Given the description of an element on the screen output the (x, y) to click on. 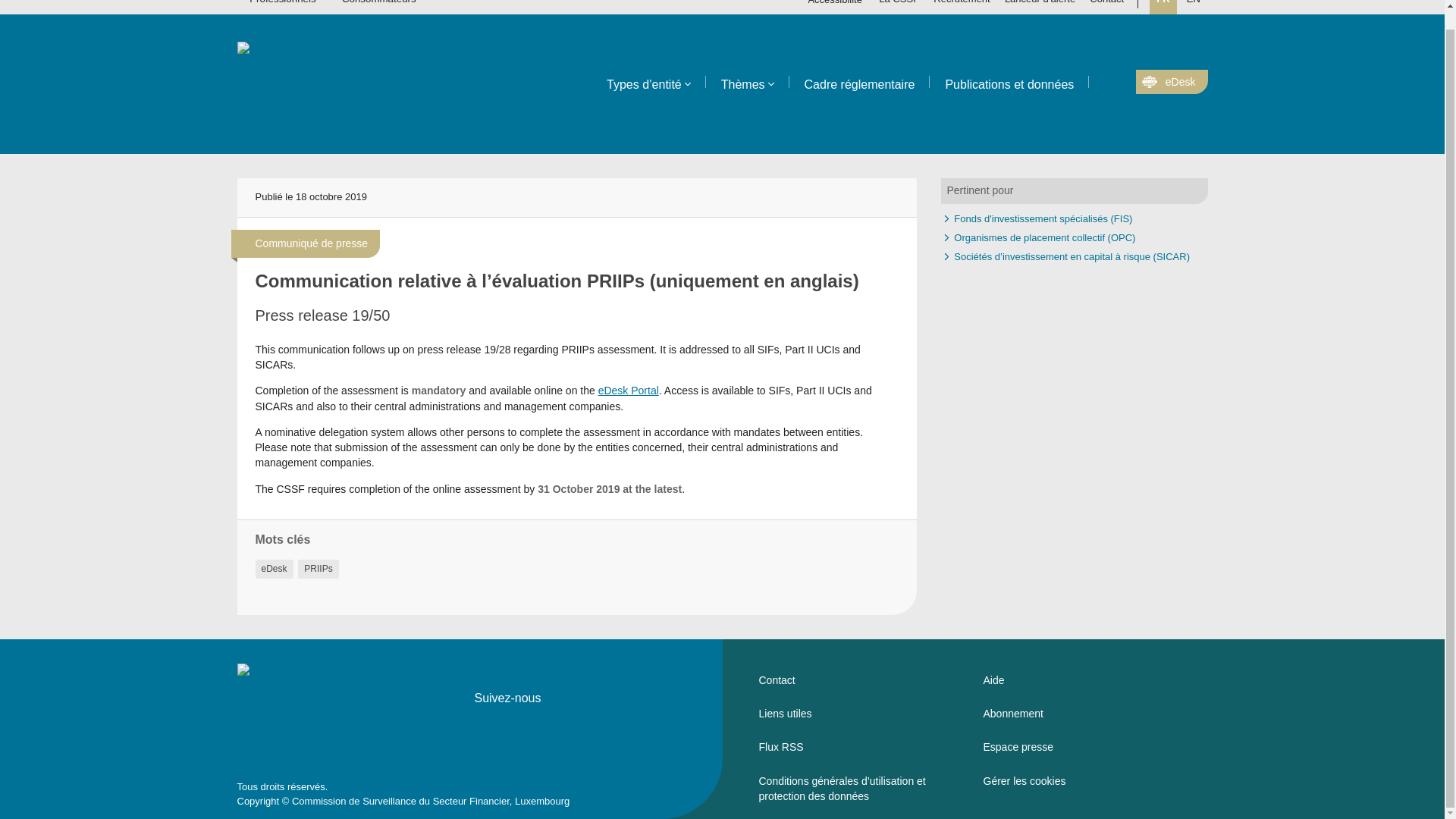
eDesk (1171, 81)
Contact (1107, 7)
La CSSF (899, 7)
Consommateurs (378, 6)
Professionnels (282, 6)
Recrutement (961, 7)
FR (1163, 7)
EN (1193, 7)
